Given the description of an element on the screen output the (x, y) to click on. 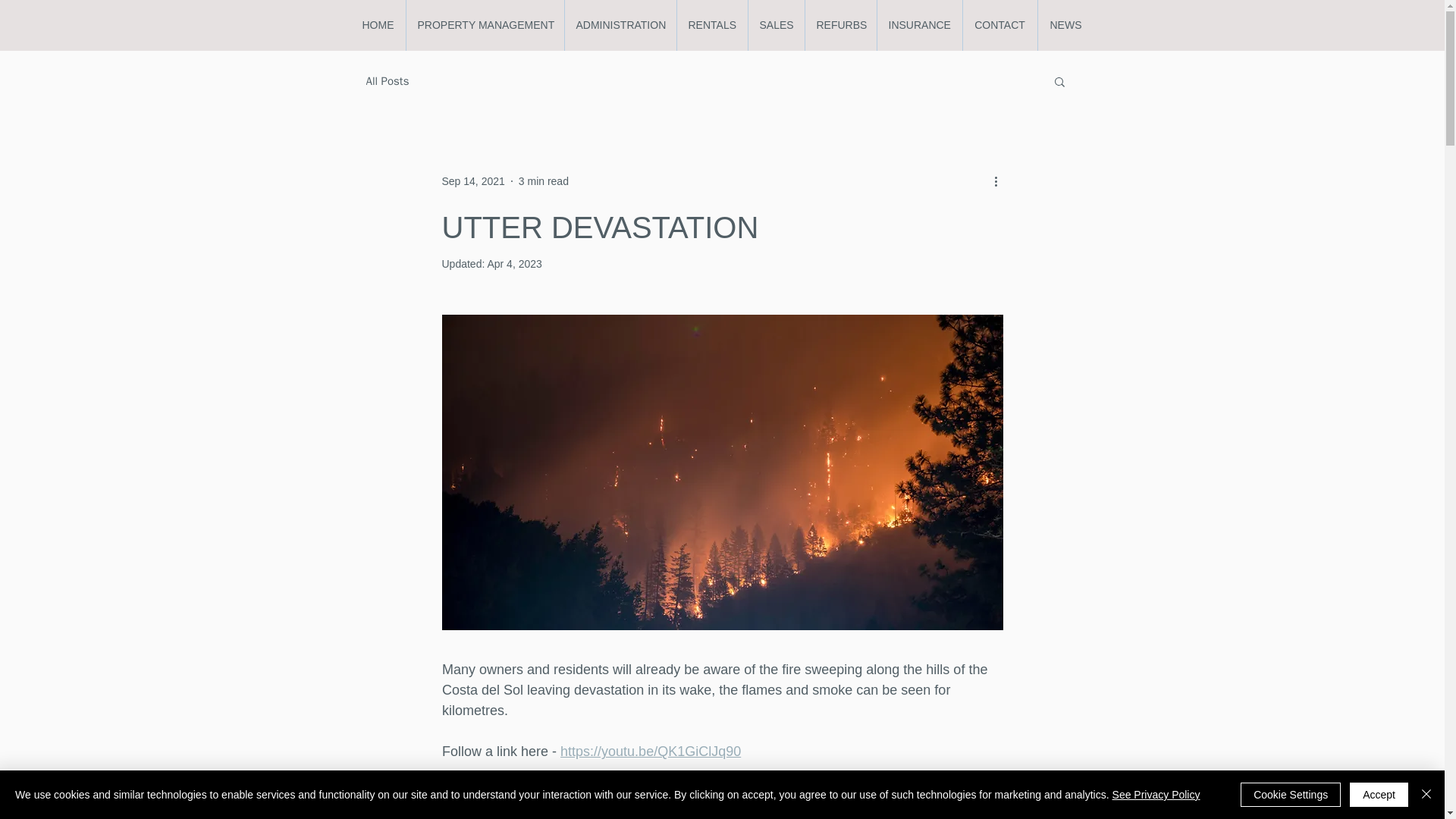
NEWS (1065, 25)
INSURANCE (919, 25)
CONTACT (998, 25)
PROPERTY MANAGEMENT (483, 25)
REFURBS (839, 25)
SALES (776, 25)
Apr 4, 2023 (513, 263)
ADMINISTRATION (620, 25)
3 min read (543, 180)
Sep 14, 2021 (472, 180)
RENTALS (712, 25)
HOME (377, 25)
All Posts (387, 81)
